Given the description of an element on the screen output the (x, y) to click on. 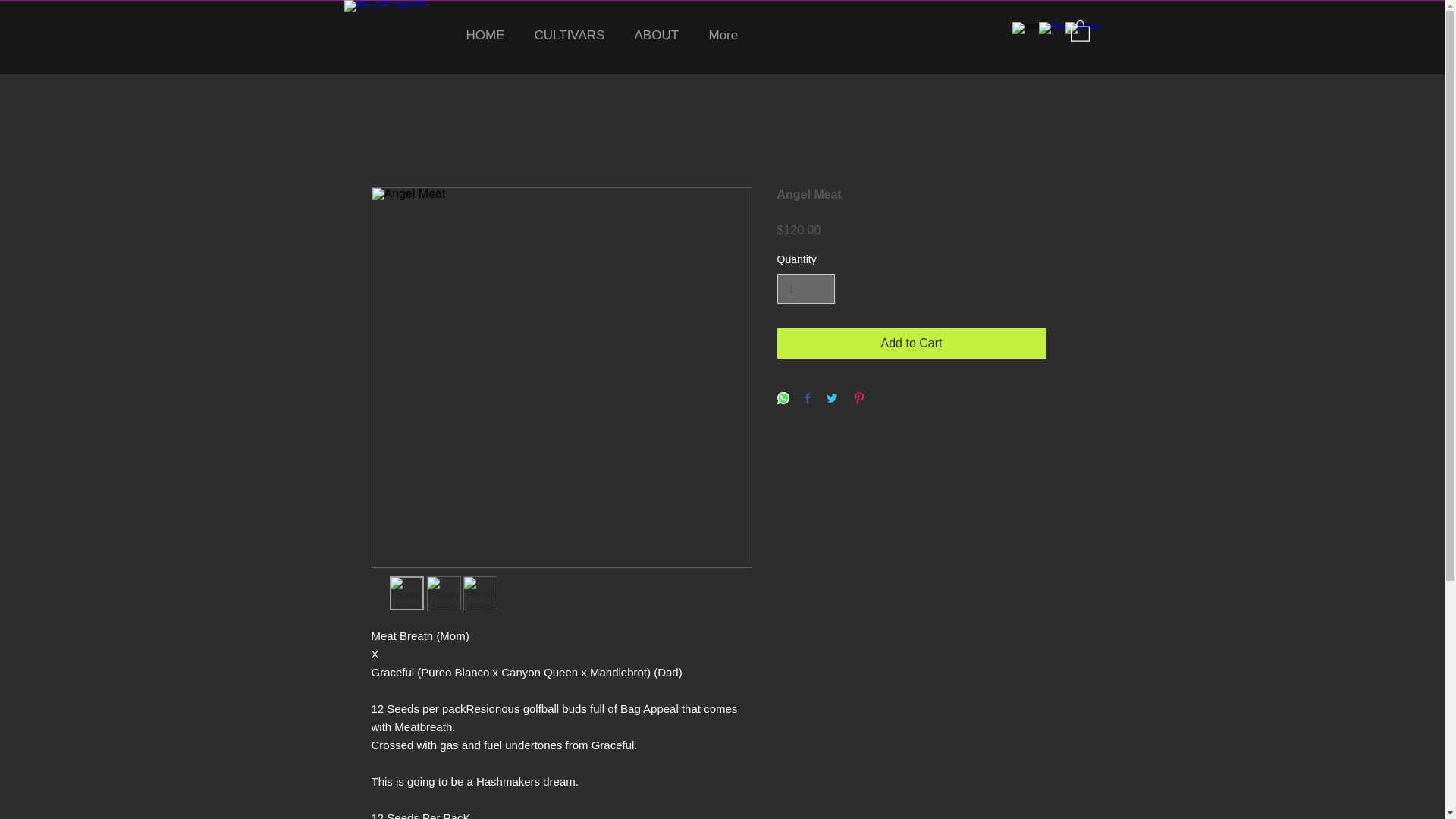
ABOUT (660, 35)
1 (805, 288)
Add to Cart (910, 343)
HOME (488, 35)
CULTIVARS (572, 35)
